Given the description of an element on the screen output the (x, y) to click on. 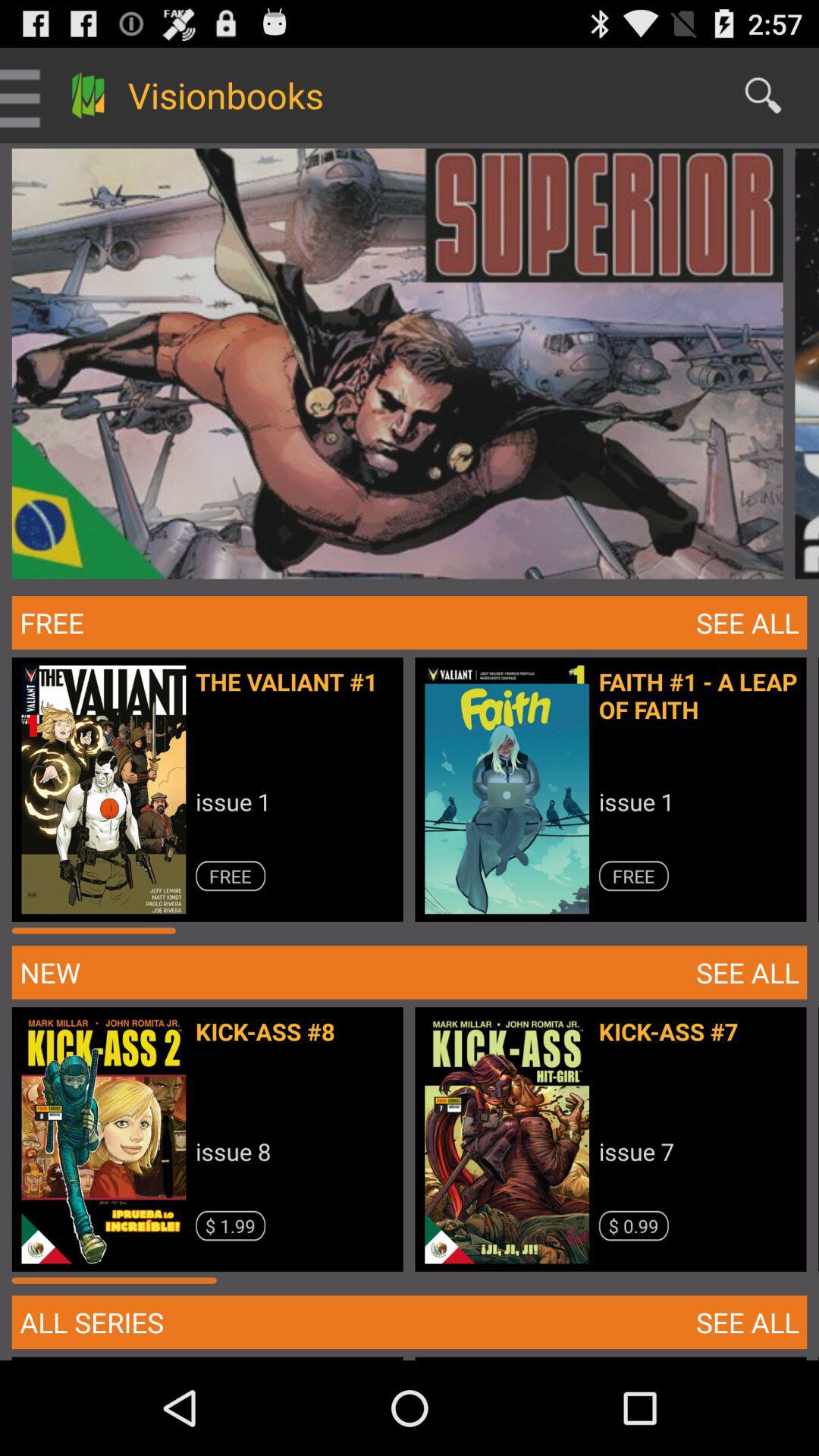
open item to the right of visionbooks item (763, 95)
